Given the description of an element on the screen output the (x, y) to click on. 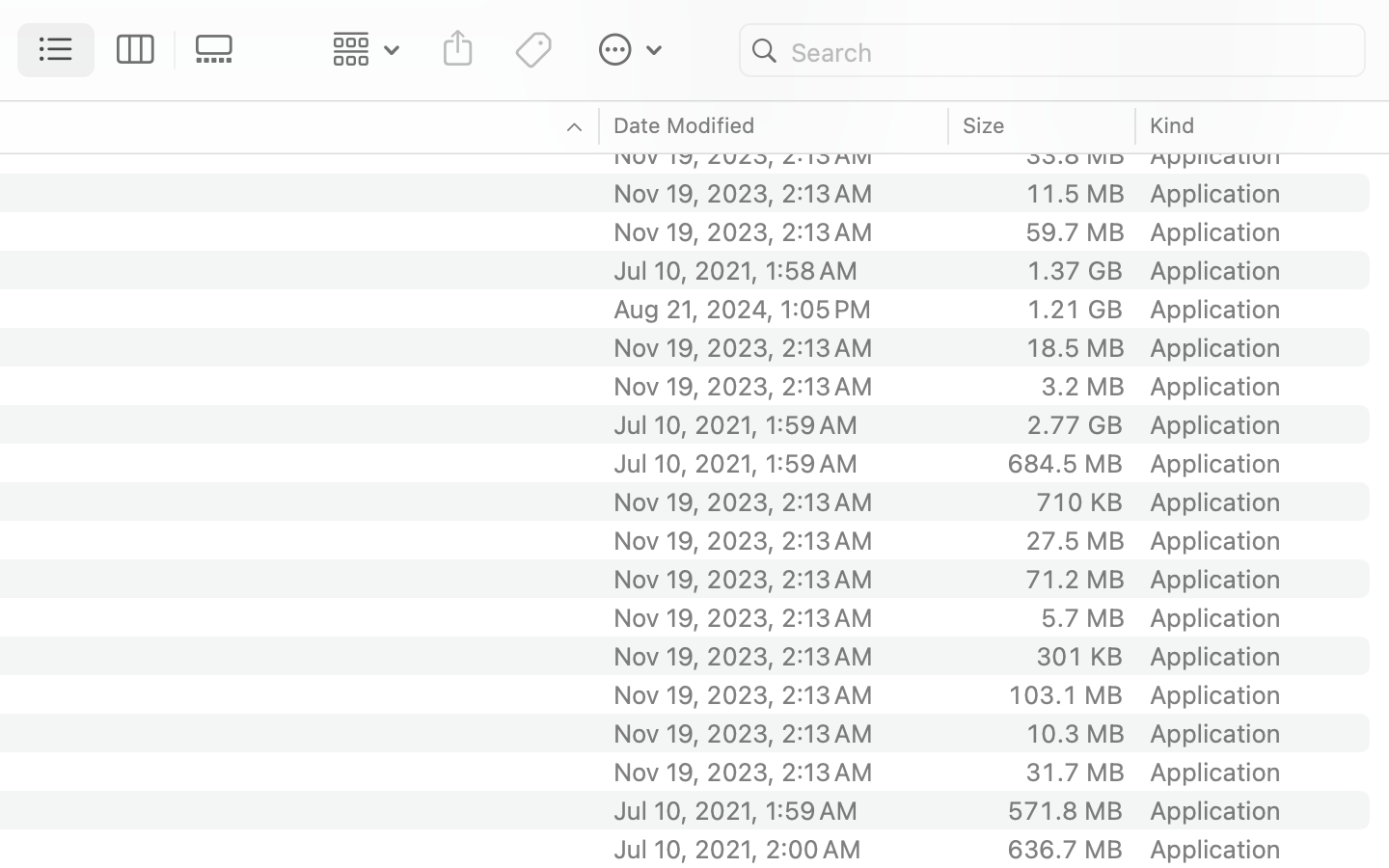
5.7 MB Element type: AXStaticText (1081, 616)
14.6 MB Element type: AXStaticText (1074, 76)
Size Element type: AXStaticText (984, 124)
